Given the description of an element on the screen output the (x, y) to click on. 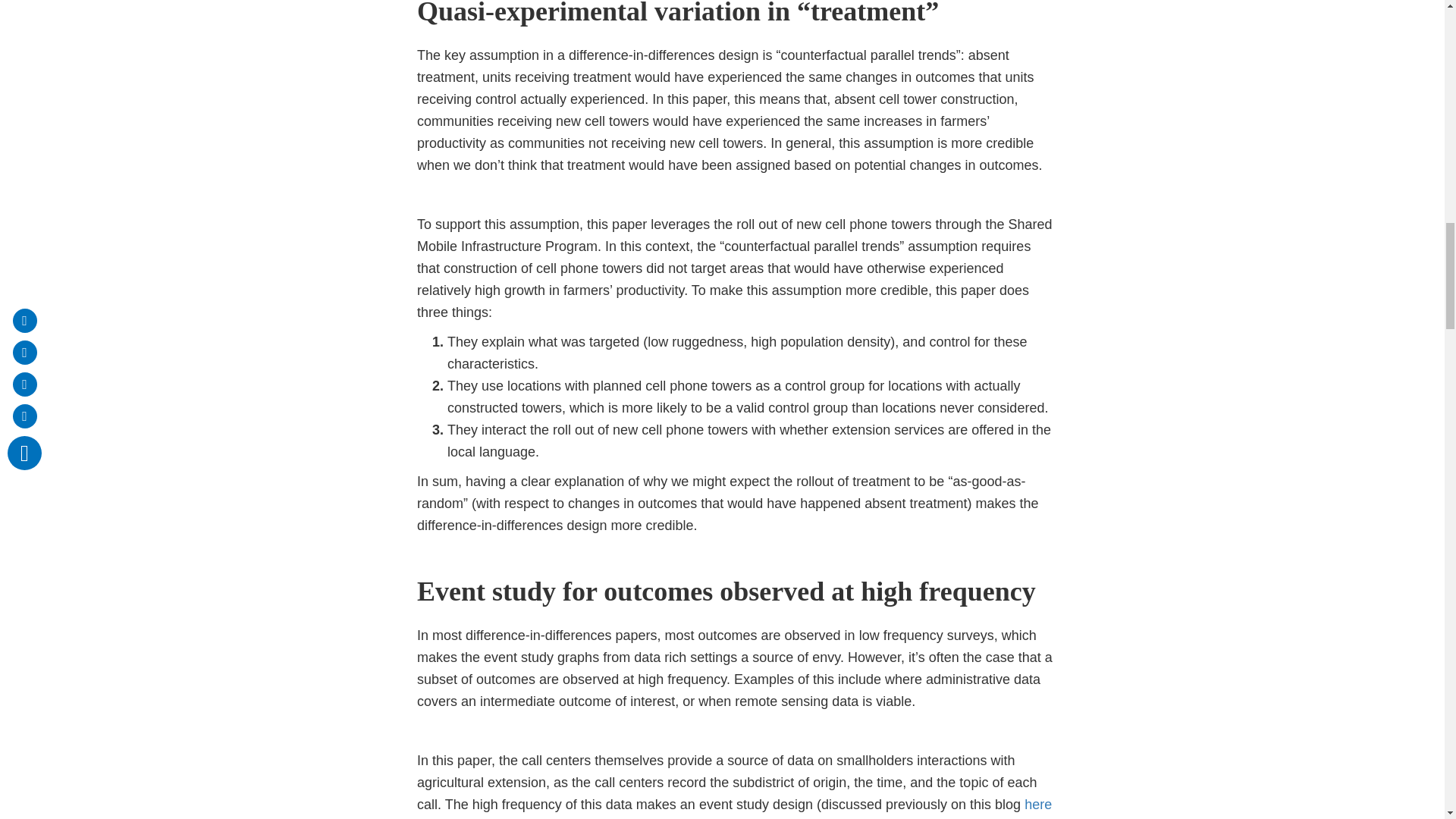
here (1038, 804)
